Given the description of an element on the screen output the (x, y) to click on. 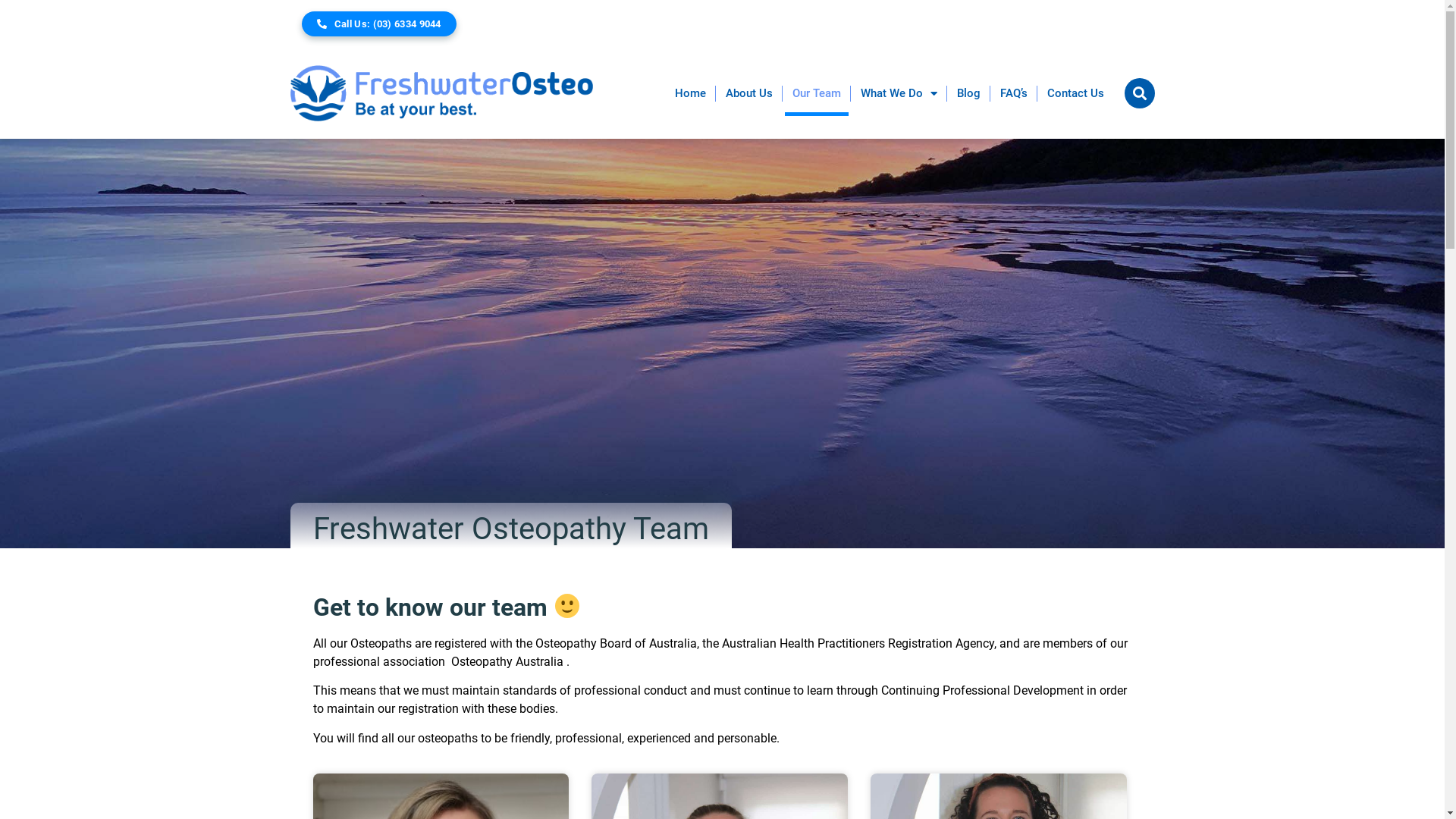
Contact Us Element type: text (1074, 93)
Home Element type: text (690, 93)
Blog Element type: text (968, 93)
Call Us: (03) 6334 9044 Element type: text (378, 23)
Our Team Element type: text (815, 93)
About Us Element type: text (748, 93)
What We Do Element type: text (898, 93)
